Given the description of an element on the screen output the (x, y) to click on. 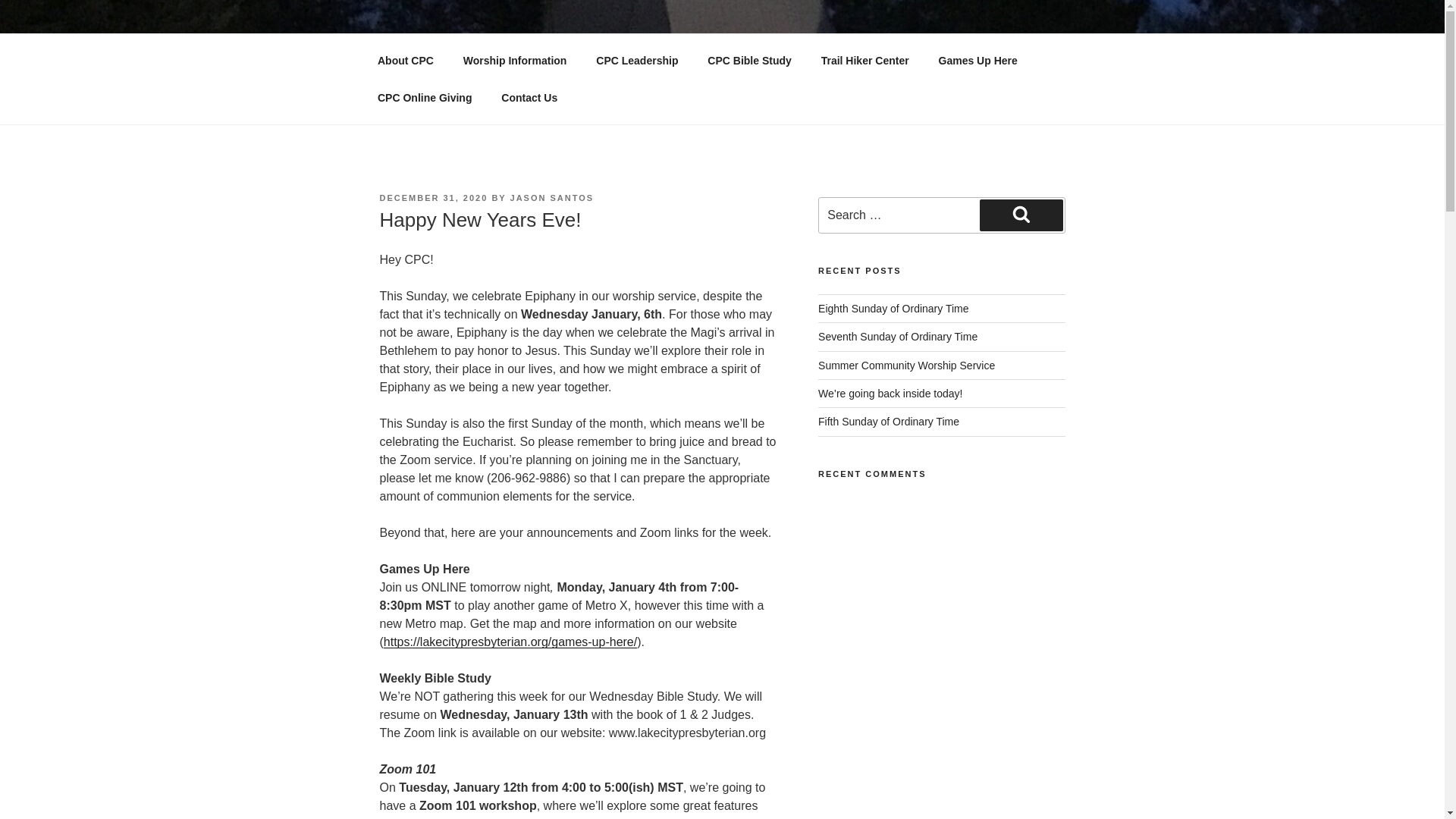
Contact Us (528, 97)
COMMUNITY PRESBYTERIAN CHURCH (668, 52)
Trail Hiker Center (864, 60)
Eighth Sunday of Ordinary Time (893, 308)
CPC Leadership (637, 60)
Seventh Sunday of Ordinary Time (897, 336)
About CPC (405, 60)
Worship Information (514, 60)
DECEMBER 31, 2020 (432, 197)
JASON SANTOS (552, 197)
Fifth Sunday of Ordinary Time (888, 421)
Games Up Here (977, 60)
CPC Bible Study (749, 60)
CPC Online Giving (424, 97)
Summer Community Worship Service (906, 365)
